Given the description of an element on the screen output the (x, y) to click on. 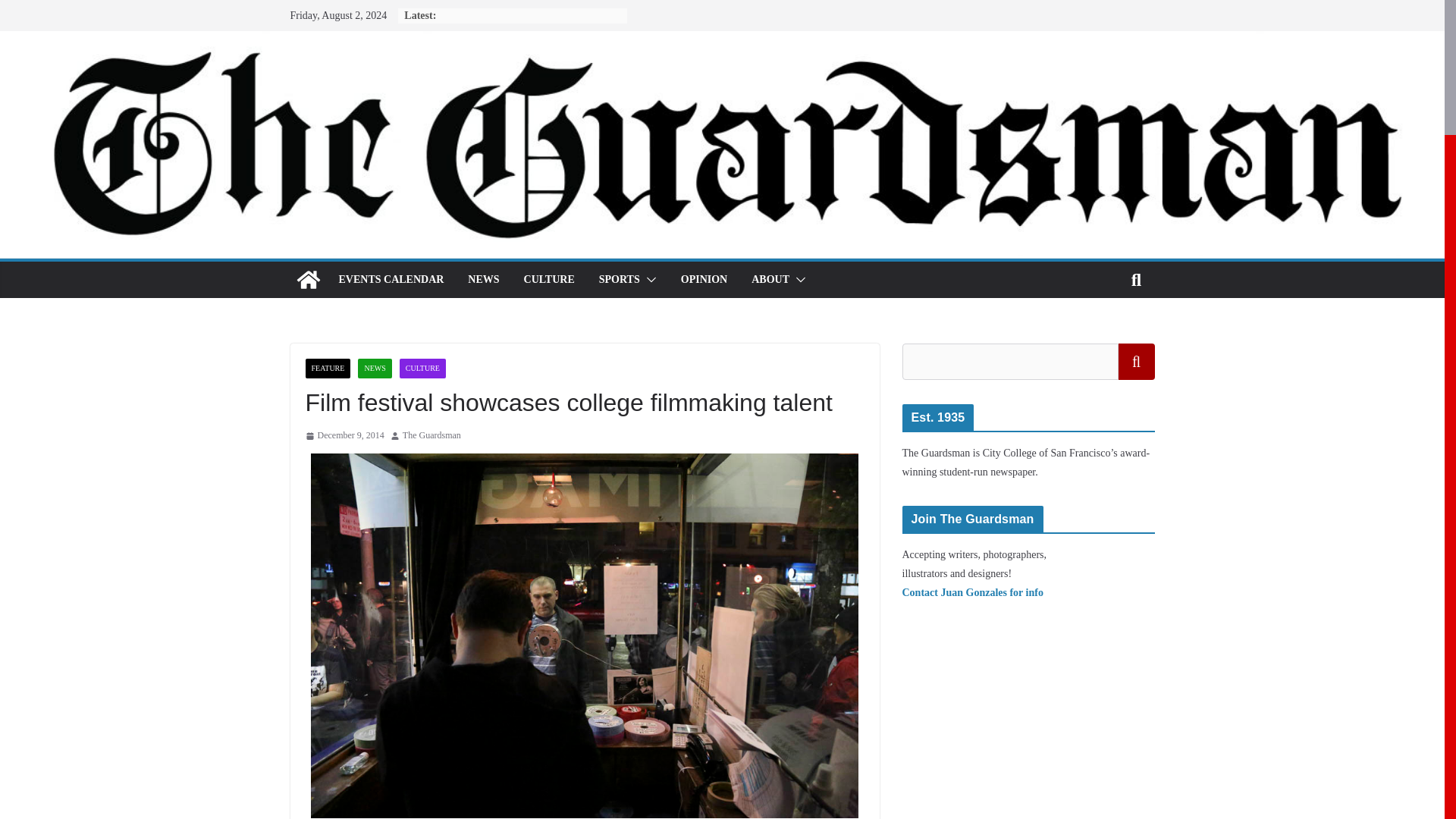
Contact Juan Gonzales for info (972, 592)
The Guardsman (432, 435)
EVENTS CALENDAR (390, 279)
CULTURE (549, 279)
10:52 pm (344, 435)
Search (1136, 361)
NEWS (374, 368)
CULTURE (421, 368)
The Guardsman (432, 435)
The Guardsman (307, 279)
ABOUT (770, 279)
FEATURE (327, 368)
NEWS (483, 279)
OPINION (703, 279)
SPORTS (619, 279)
